Given the description of an element on the screen output the (x, y) to click on. 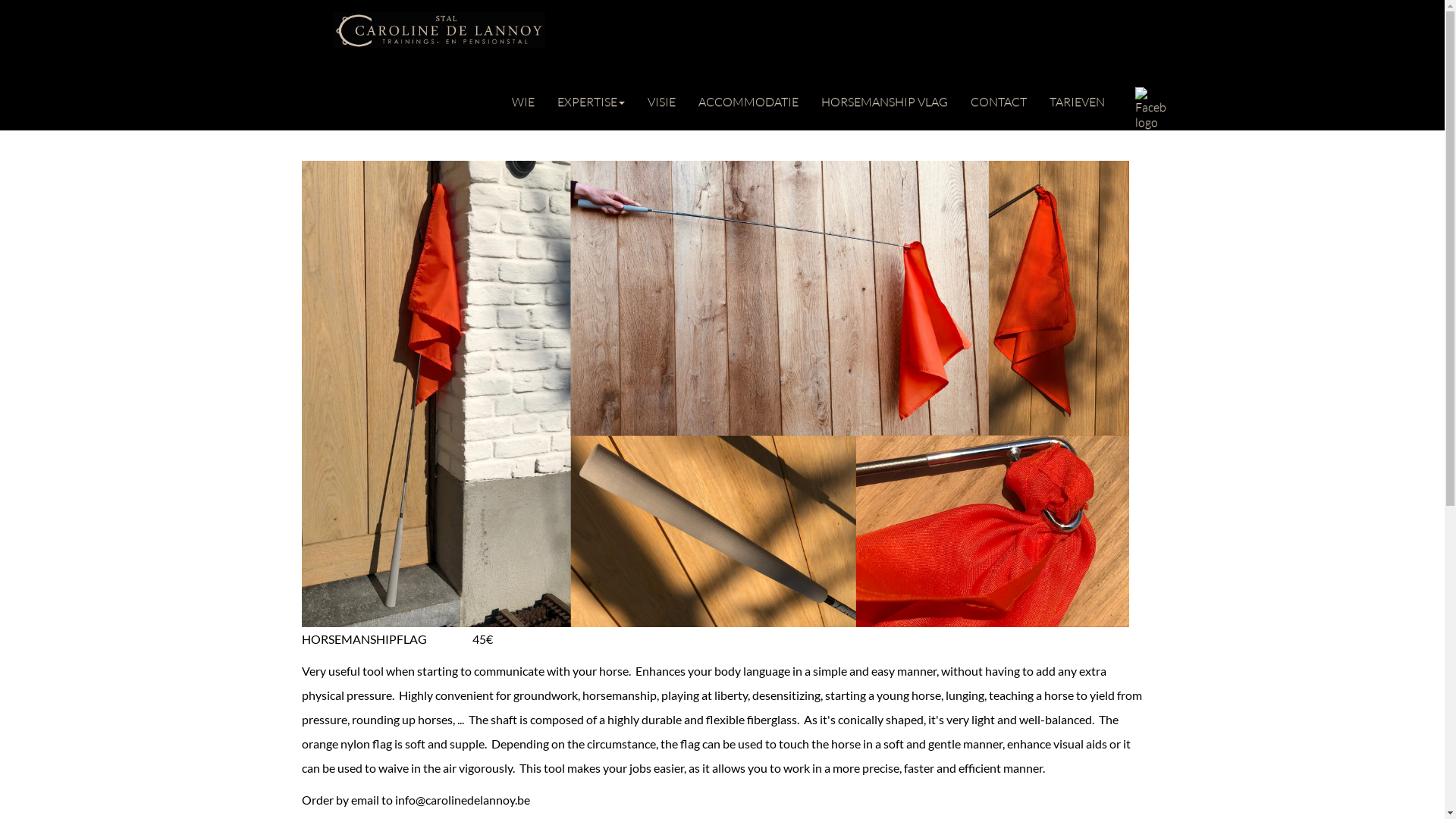
TARIEVEN Element type: text (1076, 97)
VISIE Element type: text (660, 97)
Caroline De Lannoy logo Element type: hover (438, 24)
Facebook logo Element type: hover (1149, 108)
HORSEMANSHIP VLAG Element type: text (884, 97)
WIE Element type: text (523, 97)
ACCOMMODATIE Element type: text (748, 97)
CONTACT Element type: text (997, 97)
EXPERTISE Element type: text (591, 97)
